Given the description of an element on the screen output the (x, y) to click on. 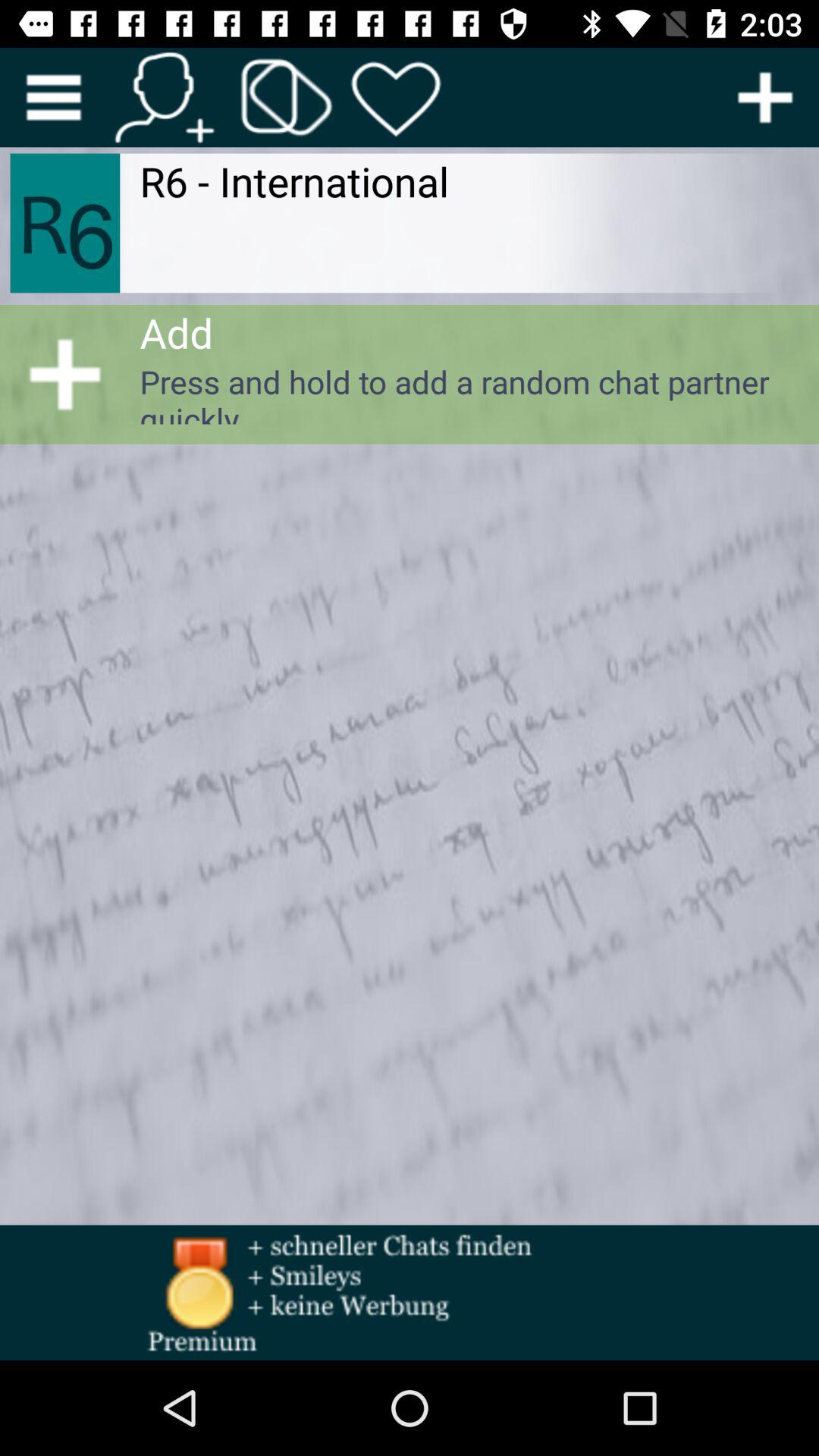
more optings (765, 97)
